Given the description of an element on the screen output the (x, y) to click on. 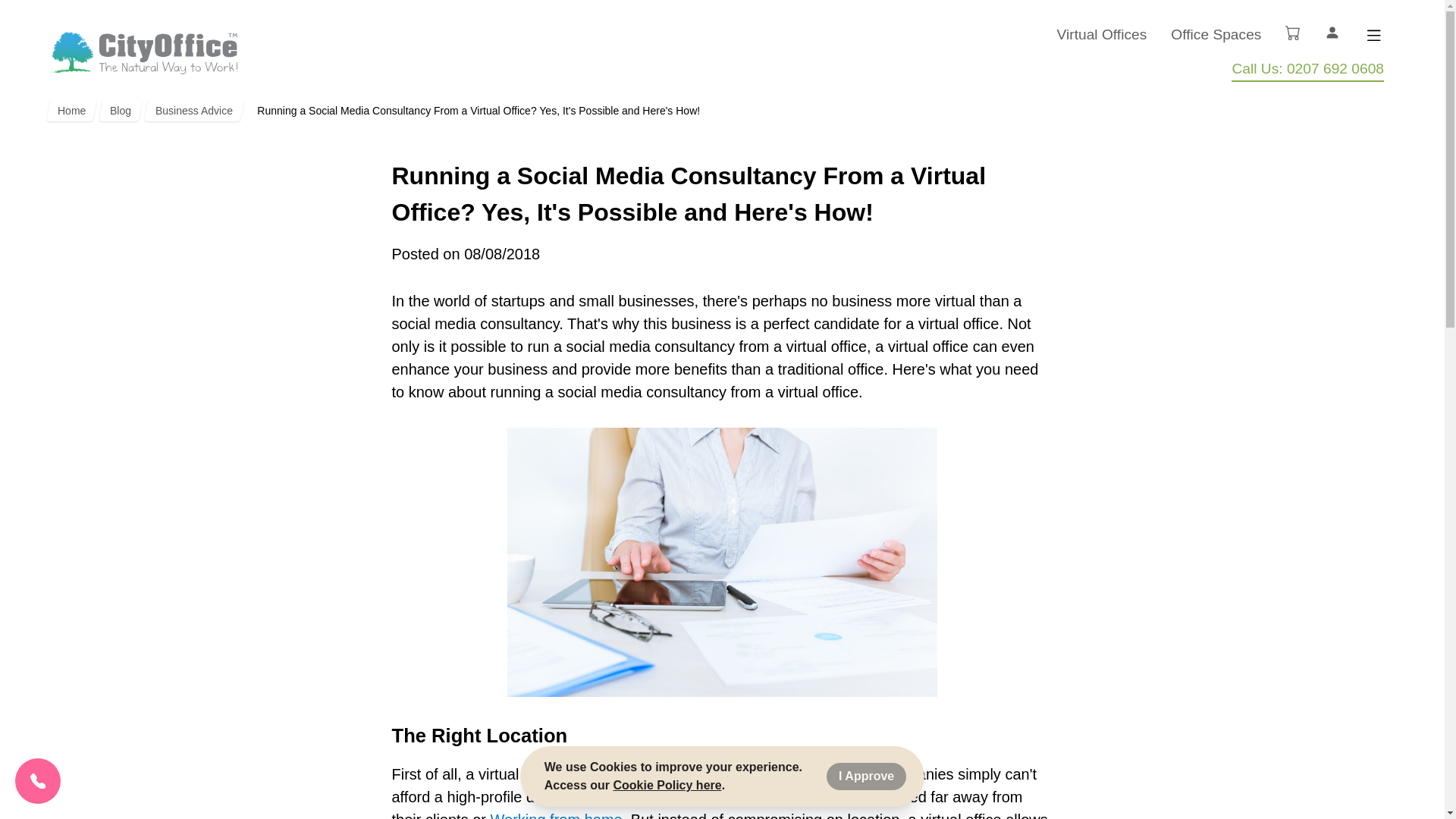
Business Advice (192, 110)
Office Spaces (1215, 34)
Cookie Policy here (666, 784)
Virtual Offices (1102, 34)
Blog (118, 110)
Virtual Offices (1102, 34)
My Account (1331, 32)
Your City Office Home Page (142, 52)
My Cart (1292, 32)
I Approve (866, 776)
Office Spaces (1215, 34)
Home (69, 110)
Call Us: 0207 692 0608 (1307, 69)
Working from home (556, 815)
